Given the description of an element on the screen output the (x, y) to click on. 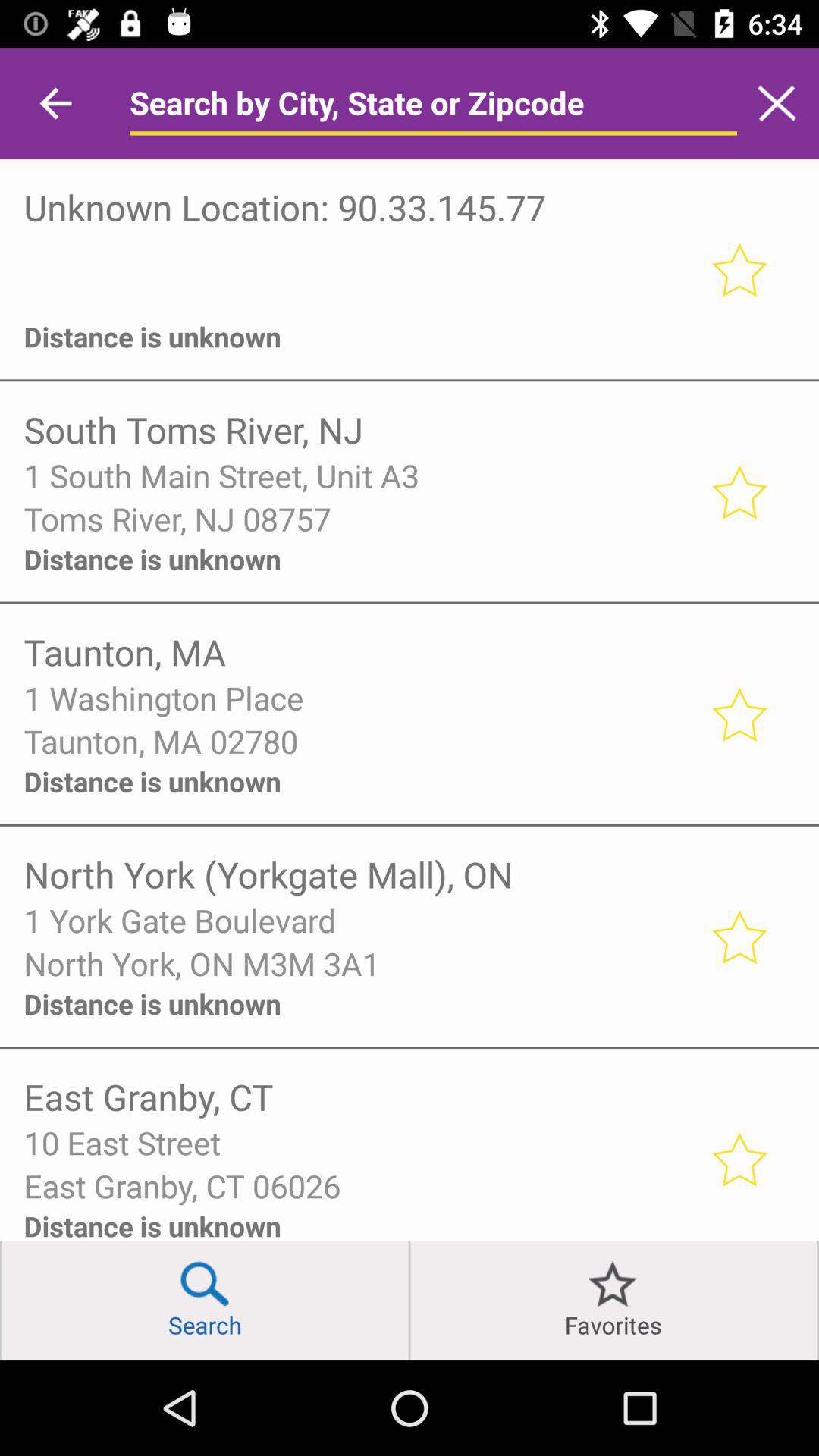
open the 1 washington place (356, 697)
